Given the description of an element on the screen output the (x, y) to click on. 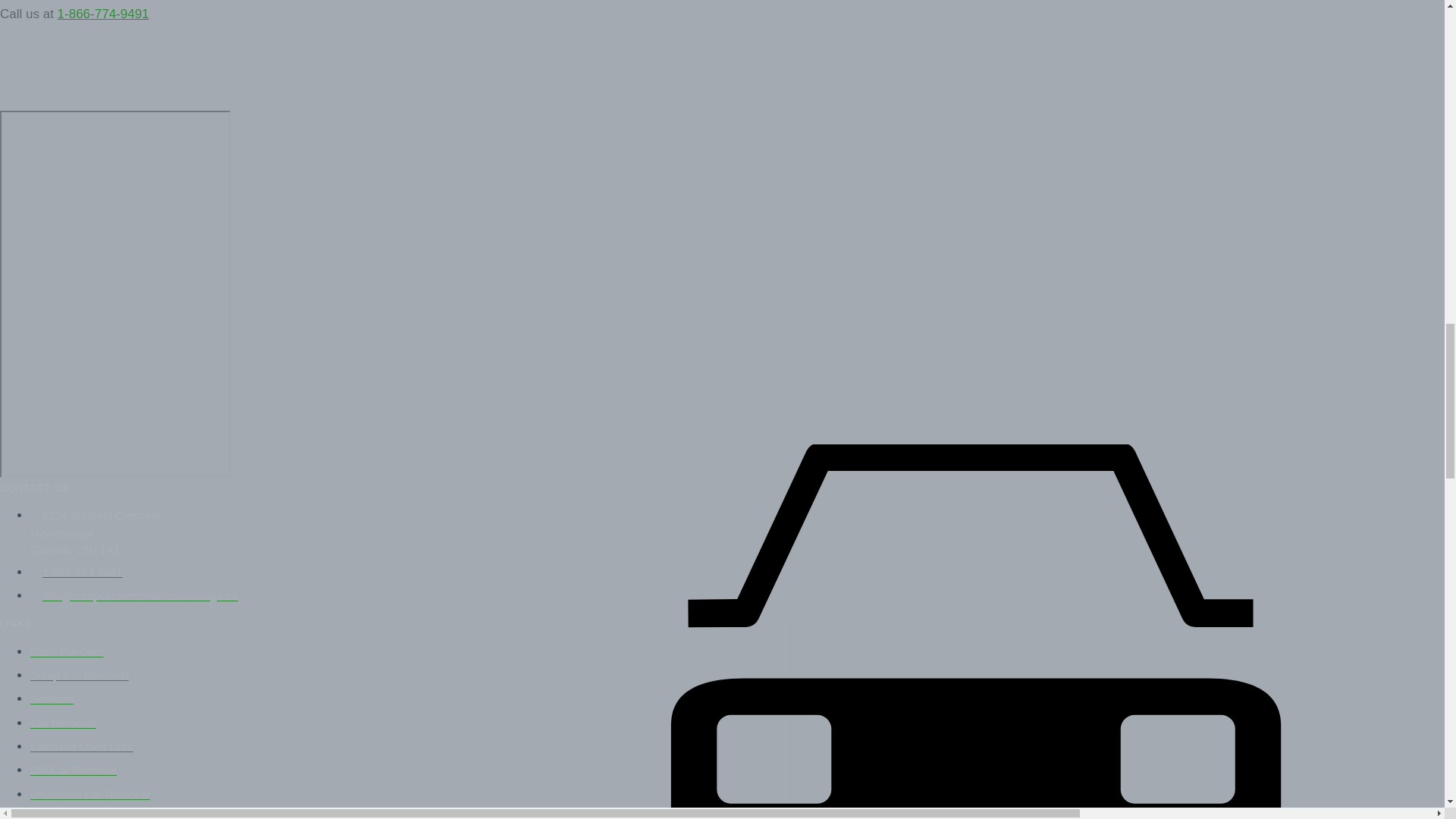
Old Car Removal (73, 770)
Car Removal (63, 723)
Scrap Car Removal (79, 675)
Services (52, 698)
About Us (53, 815)
Cash For Used Cars (81, 746)
Cash For Cars (66, 652)
Unwanted Car Removal (89, 794)
1-866-774-9491 (103, 13)
1-866-774-9491 (76, 572)
